Given the description of an element on the screen output the (x, y) to click on. 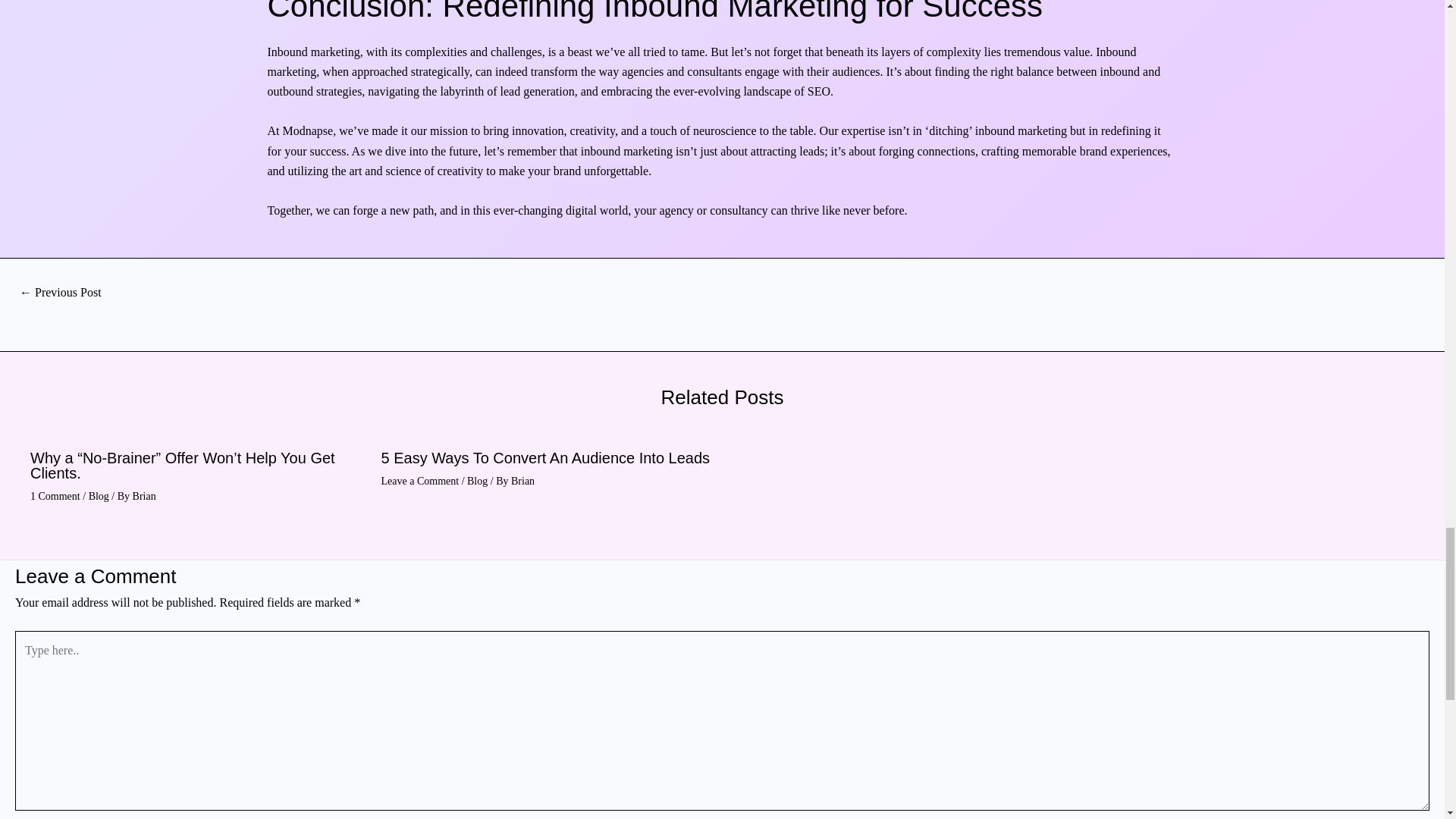
The Ultimate Guide To Color Psychology (60, 292)
View all posts by Brian (522, 480)
Blog (98, 496)
View all posts by Brian (143, 496)
Leave a Comment (419, 480)
Blog (477, 480)
Brian (143, 496)
5 Easy Ways To Convert An Audience Into Leads (545, 457)
1 Comment (55, 496)
Brian (522, 480)
